Given the description of an element on the screen output the (x, y) to click on. 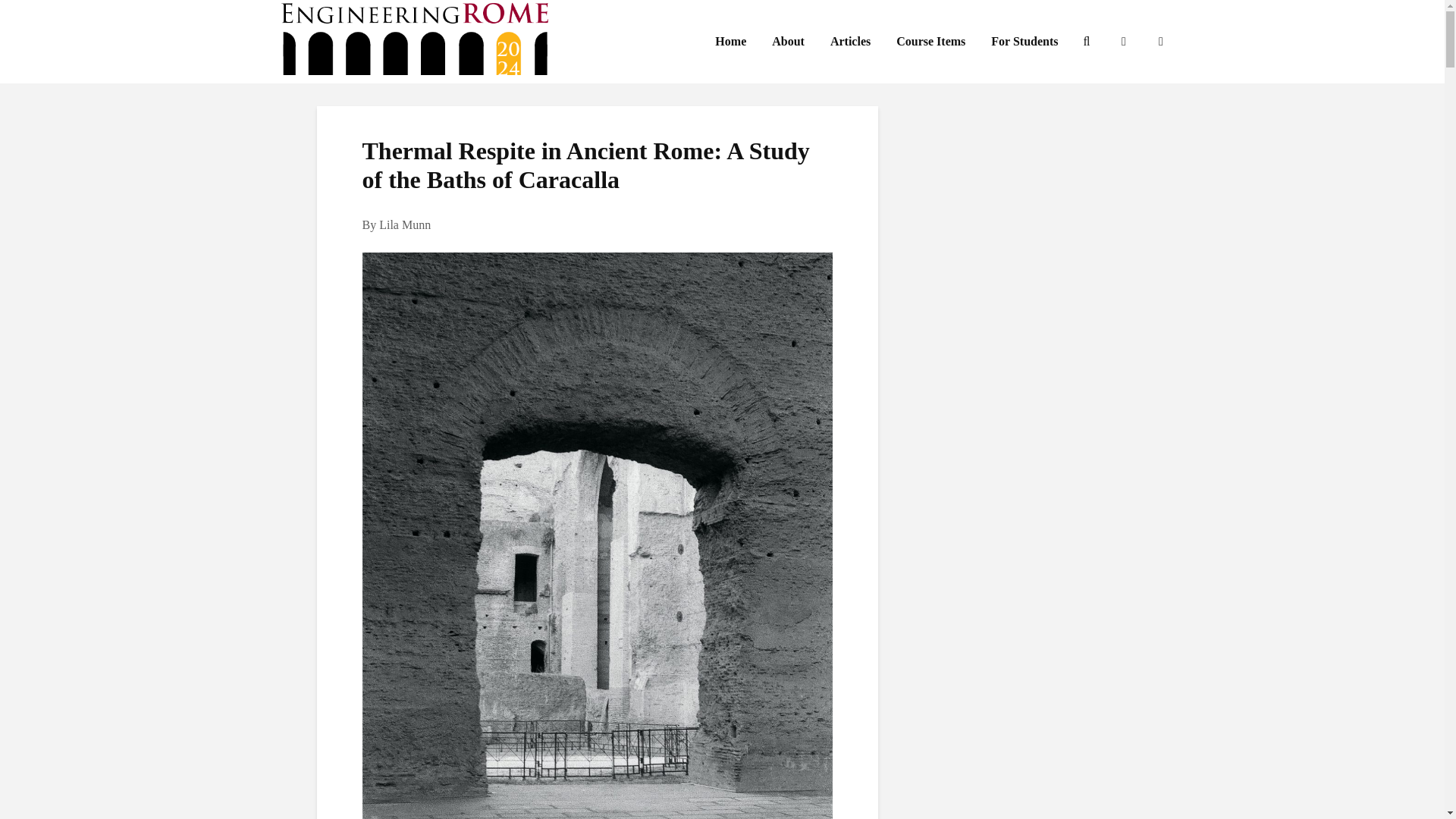
Articles (850, 41)
About (787, 41)
Course Items (930, 41)
Home (730, 41)
For Students (1023, 41)
